Given the description of an element on the screen output the (x, y) to click on. 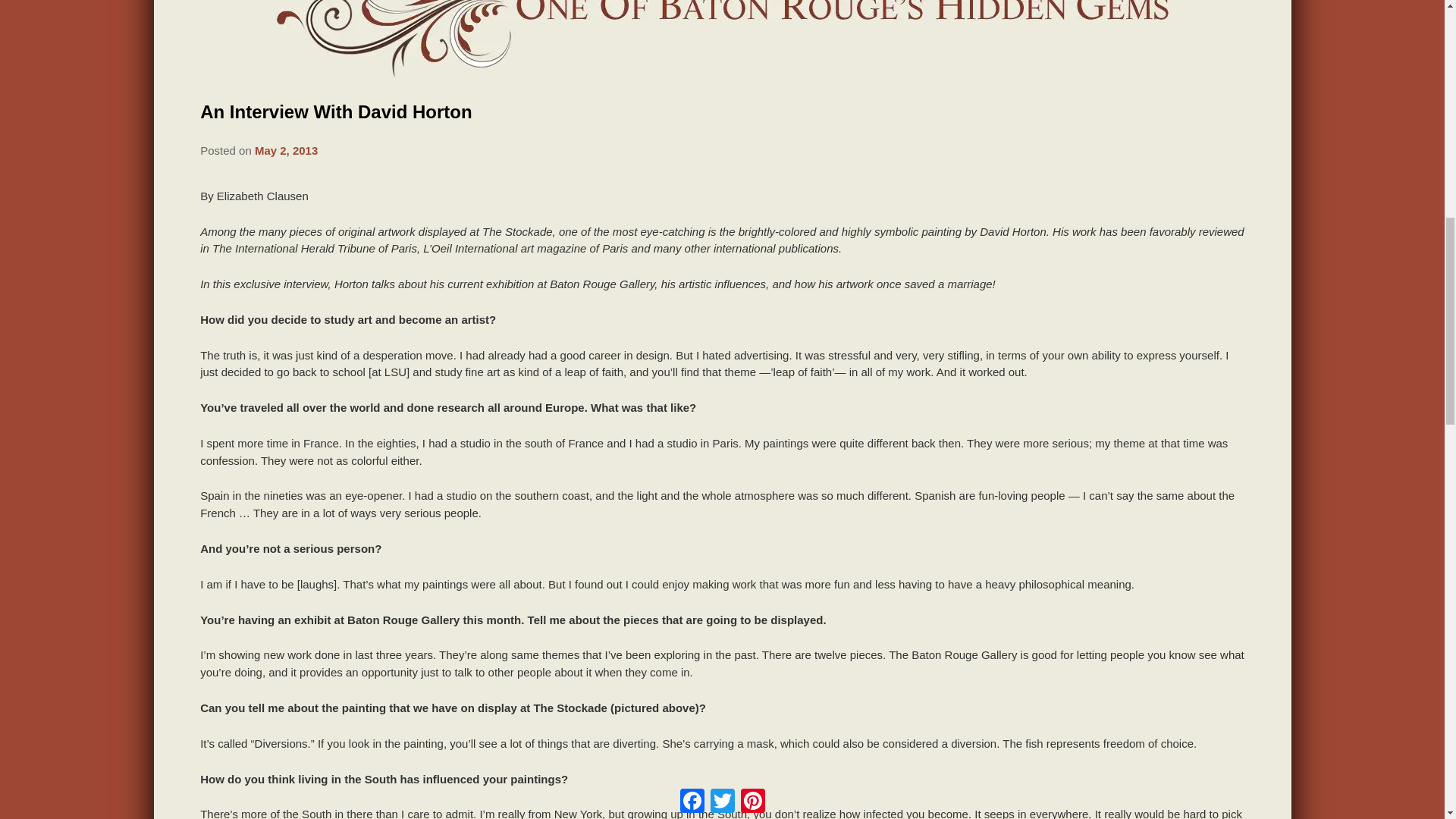
12:41 am (285, 150)
